Given the description of an element on the screen output the (x, y) to click on. 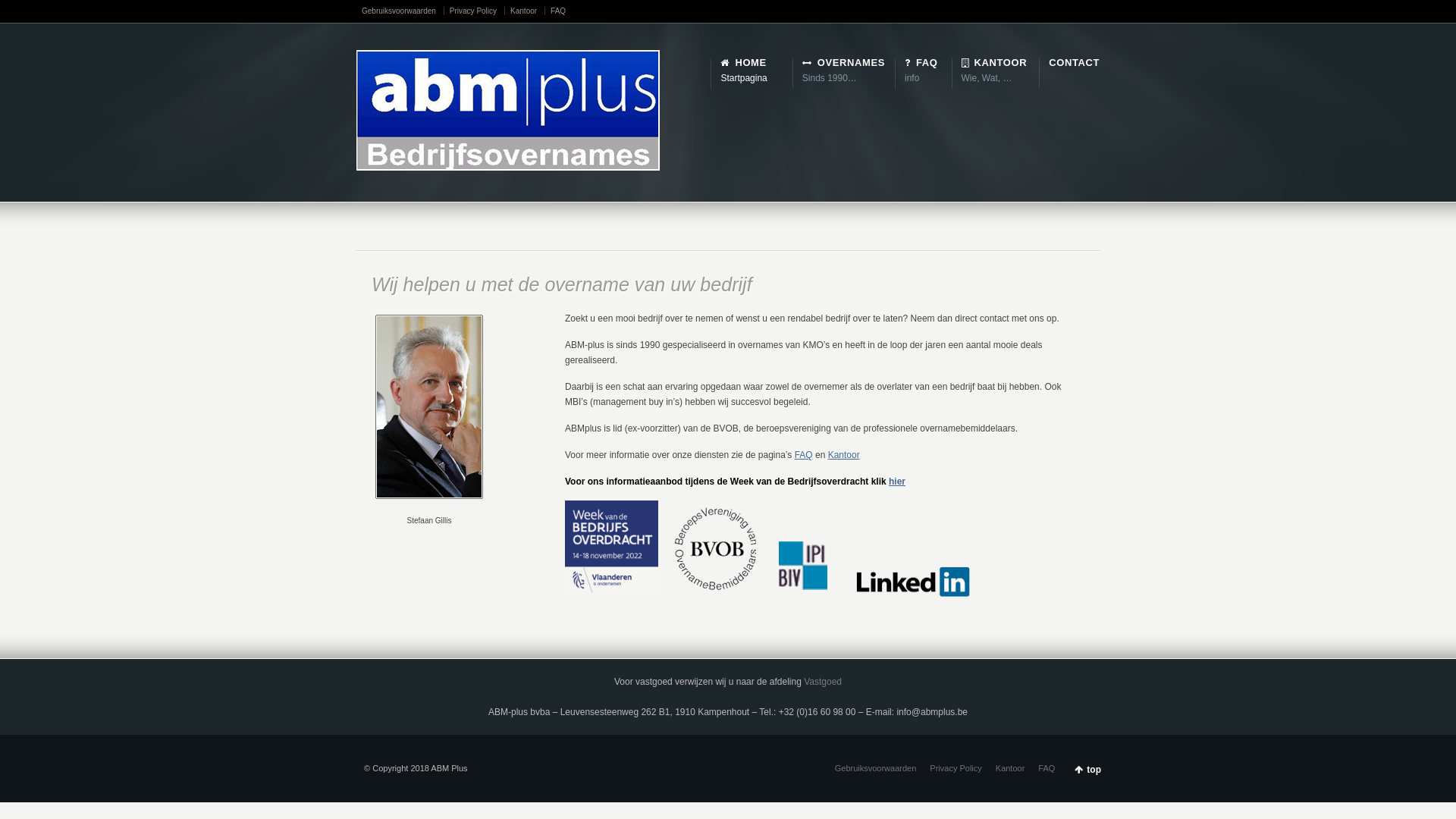
FAQ Element type: text (803, 454)
FAQ Element type: text (557, 10)
Gebruiksvoorwaarden Element type: text (402, 10)
FAQ
info Element type: text (915, 70)
hier Element type: text (896, 481)
Vastgoed Element type: text (822, 681)
Kantoor Element type: text (1010, 767)
FAQ Element type: text (1046, 767)
top Element type: text (1087, 768)
Gebruiksvoorwaarden Element type: text (875, 767)
Kantoor Element type: text (843, 454)
Privacy Policy Element type: text (955, 767)
CONTACT Element type: text (1073, 62)
Privacy Policy Element type: text (477, 10)
HOME
Startpagina Element type: text (743, 70)
Kantoor Element type: text (527, 10)
